Given the description of an element on the screen output the (x, y) to click on. 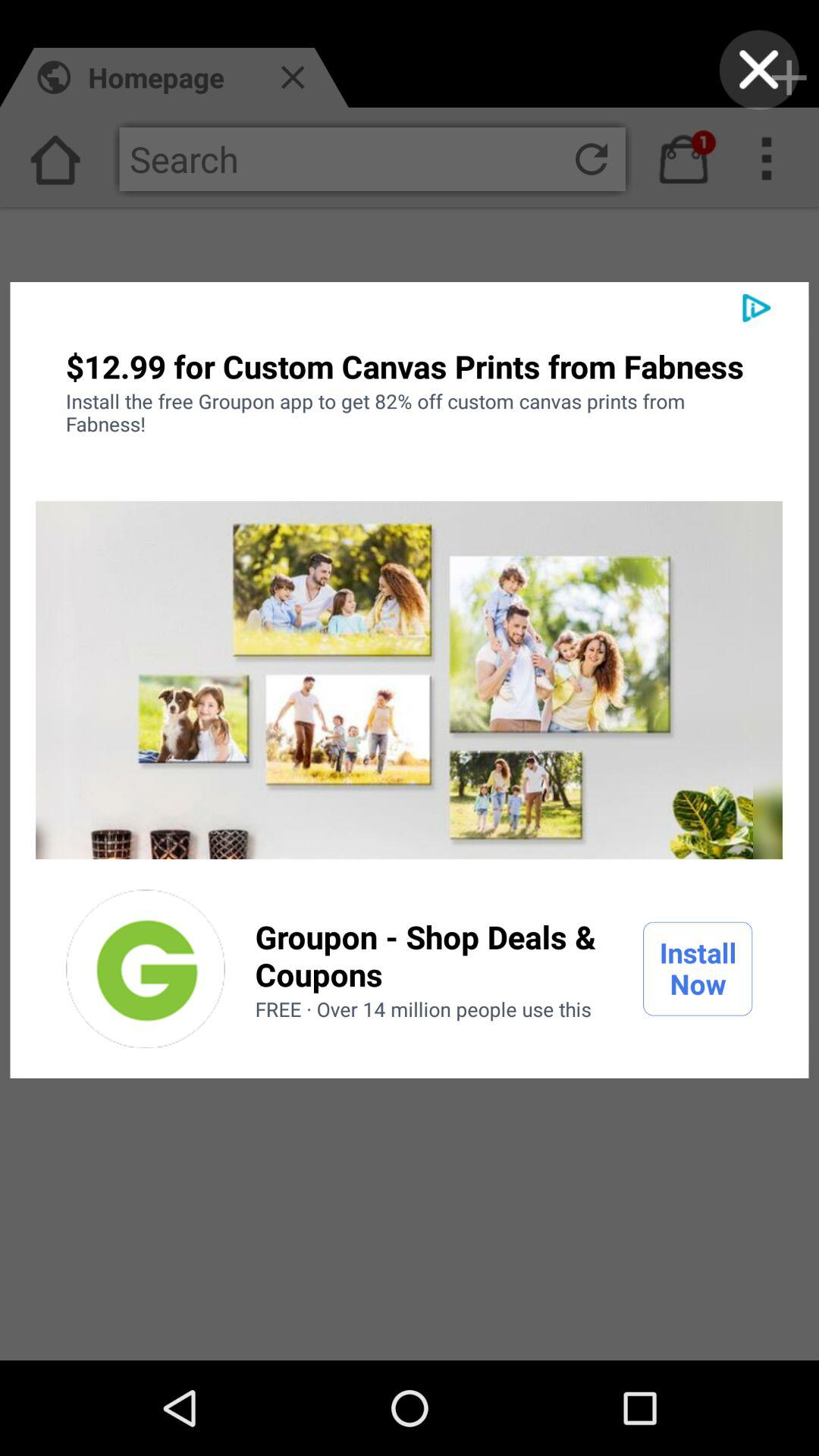
go to the company site (145, 968)
